Given the description of an element on the screen output the (x, y) to click on. 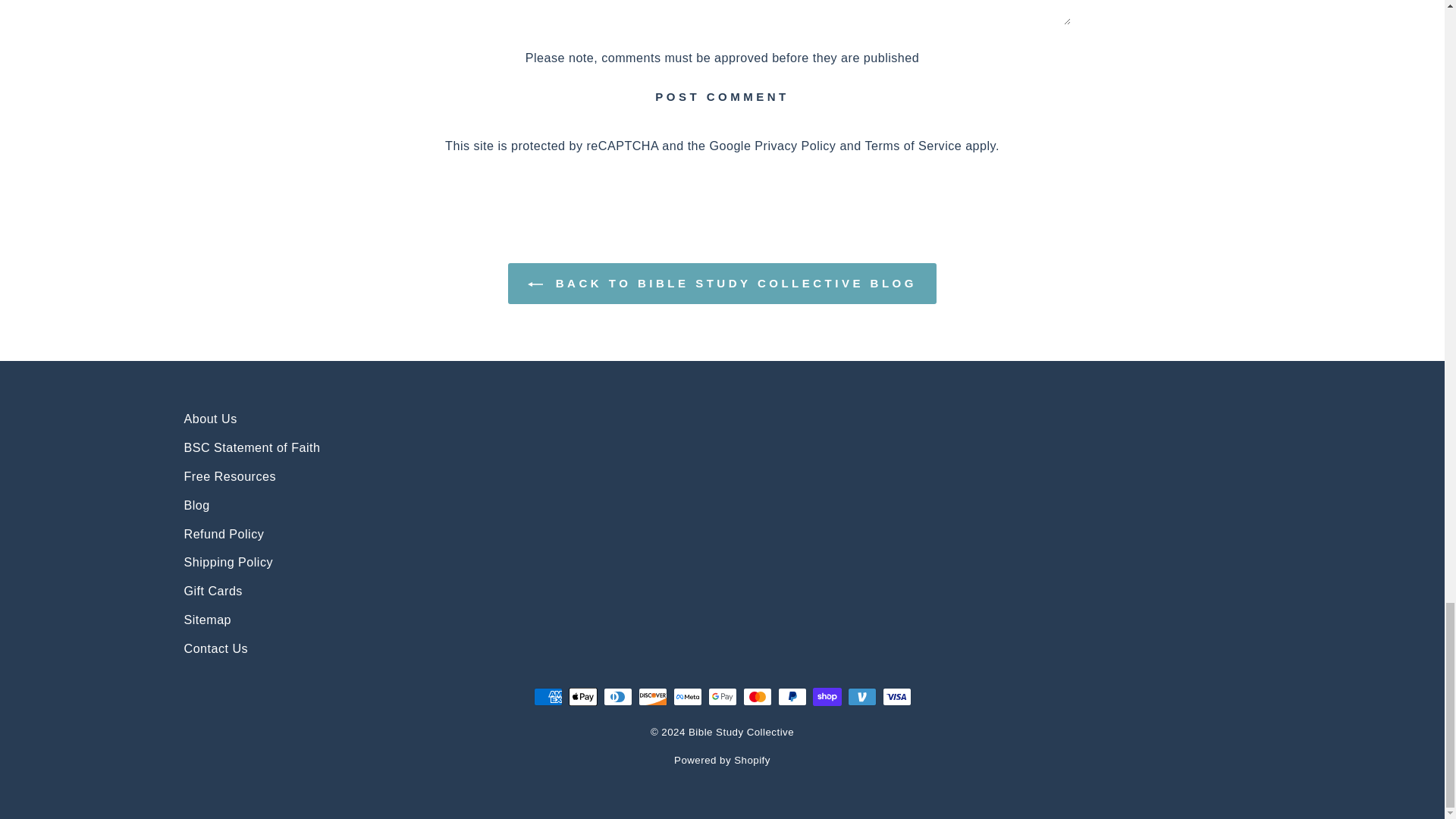
Diners Club (617, 696)
Meta Pay (686, 696)
Discover (652, 696)
Venmo (861, 696)
PayPal (791, 696)
Shop Pay (826, 696)
Mastercard (756, 696)
Visa (896, 696)
Google Pay (721, 696)
Apple Pay (582, 696)
